Given the description of an element on the screen output the (x, y) to click on. 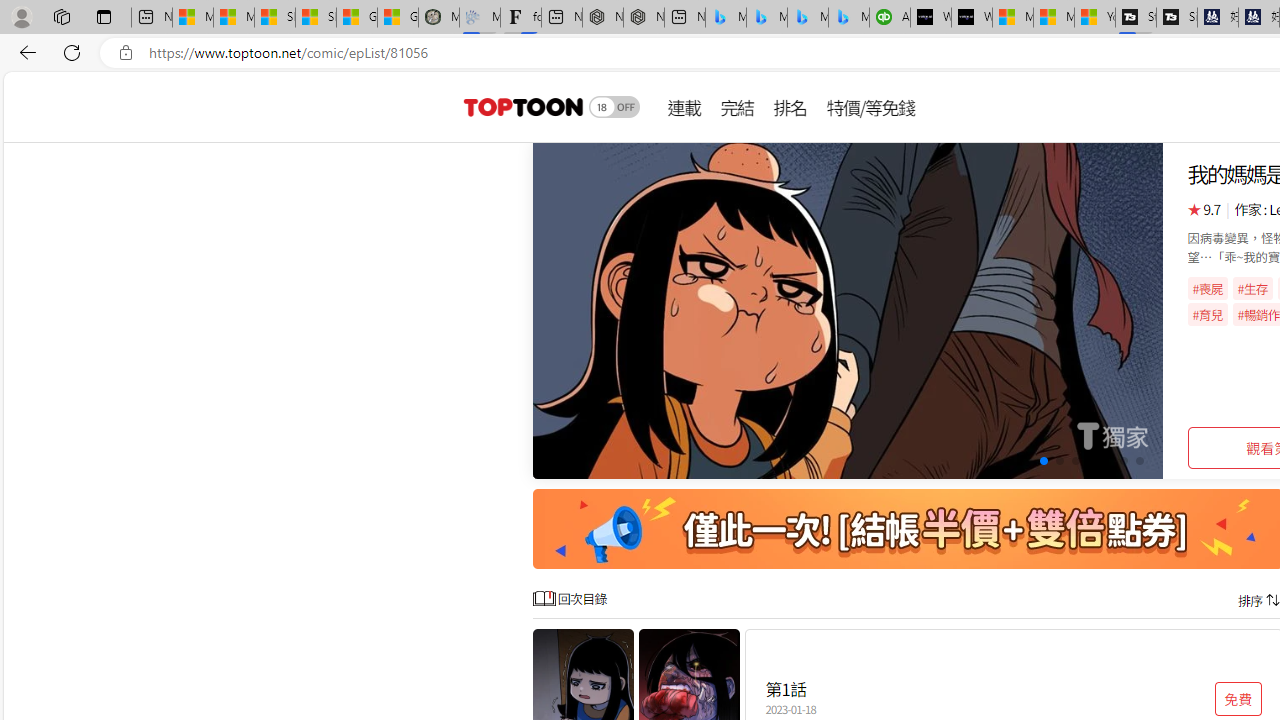
Go to slide 2 (1011, 461)
Microsoft Bing Travel - Shangri-La Hotel Bangkok (849, 17)
Class: swiper-slide swiper-slide-prev (847, 310)
Personal Profile (21, 16)
Manatee Mortality Statistics | FWC (438, 17)
What's the best AI voice generator? - voice.ai (971, 17)
Go to slide 8 (1107, 461)
Go to slide 5 (1058, 461)
Class: swiper-slide (847, 310)
Class:  switch_18mode actionAdultBtn (614, 106)
Workspaces (61, 16)
